Given the description of an element on the screen output the (x, y) to click on. 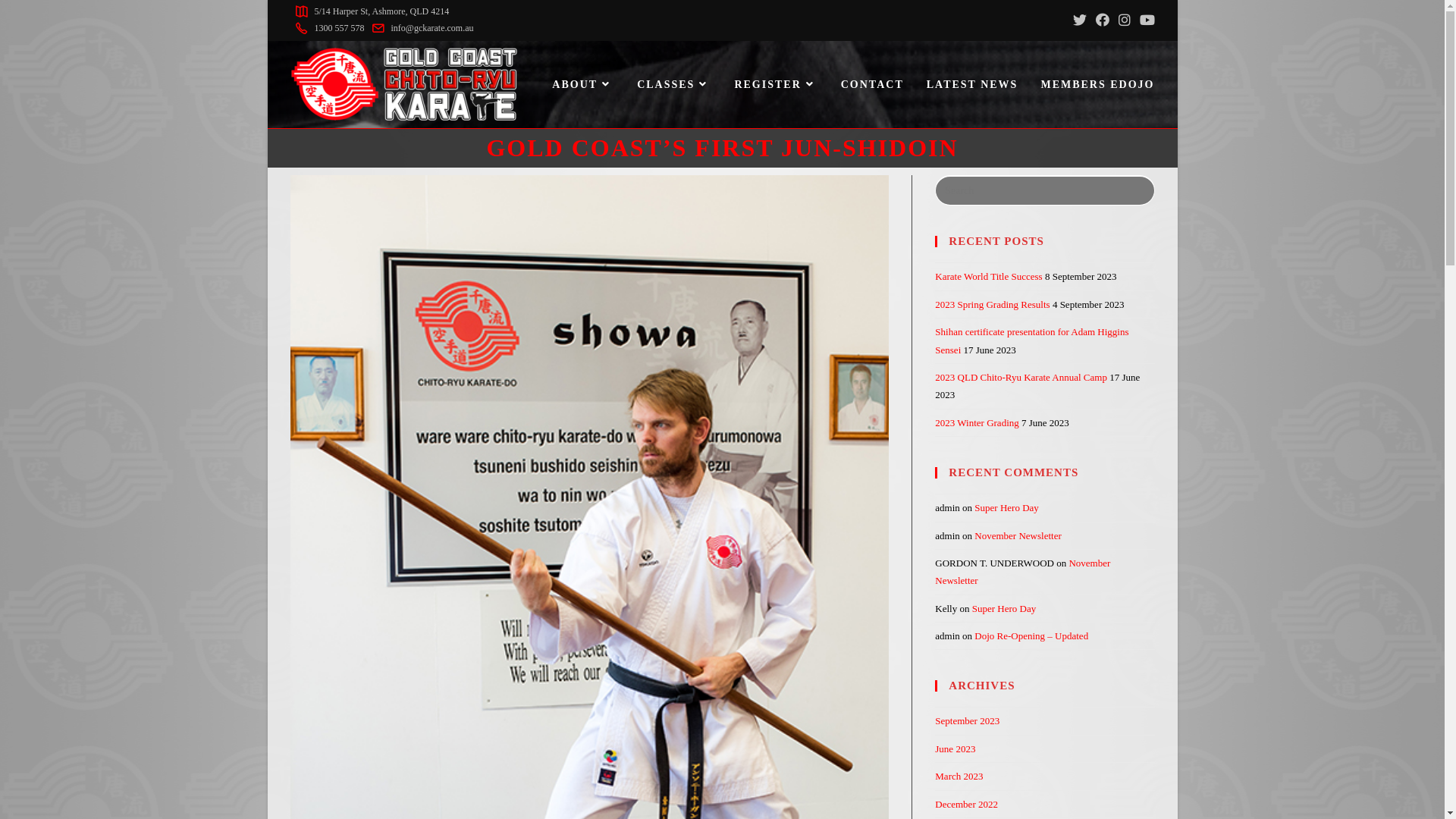
Shihan certificate presentation for Adam Higgins Sensei Element type: text (1031, 340)
Super Hero Day Element type: text (1003, 608)
June 2023 Element type: text (955, 748)
MEMBERS EDOJO Element type: text (1097, 84)
2023 Spring Grading Results Element type: text (992, 304)
December 2022 Element type: text (966, 803)
ABOUT Element type: text (582, 84)
November Newsletter Element type: text (1017, 534)
November Newsletter Element type: text (1022, 571)
CONTACT Element type: text (872, 84)
March 2023 Element type: text (958, 775)
Karate World Title Success Element type: text (988, 276)
Super Hero Day Element type: text (1006, 507)
info@gckarate.com.au Element type: text (420, 27)
CLASSES Element type: text (673, 84)
September 2023 Element type: text (967, 720)
2023 QLD Chito-Ryu Karate Annual Camp Element type: text (1021, 376)
REGISTER Element type: text (775, 84)
5/14 Harper St, Ashmore, QLD 4214 Element type: text (368, 11)
LATEST NEWS Element type: text (972, 84)
2023 Winter Grading Element type: text (976, 422)
